Given the description of an element on the screen output the (x, y) to click on. 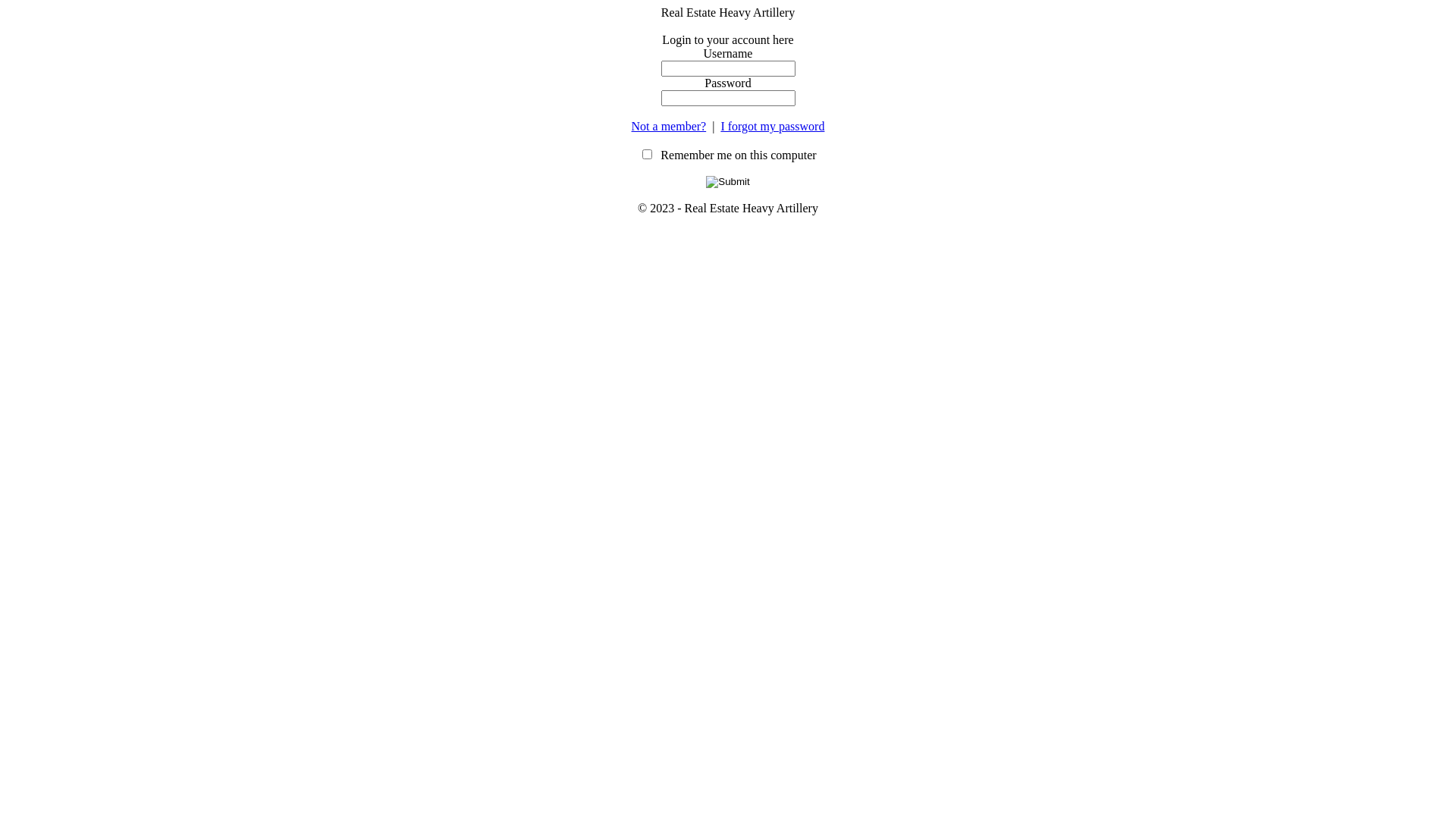
I forgot my password Element type: text (772, 125)
Not a member? Element type: text (668, 125)
